Given the description of an element on the screen output the (x, y) to click on. 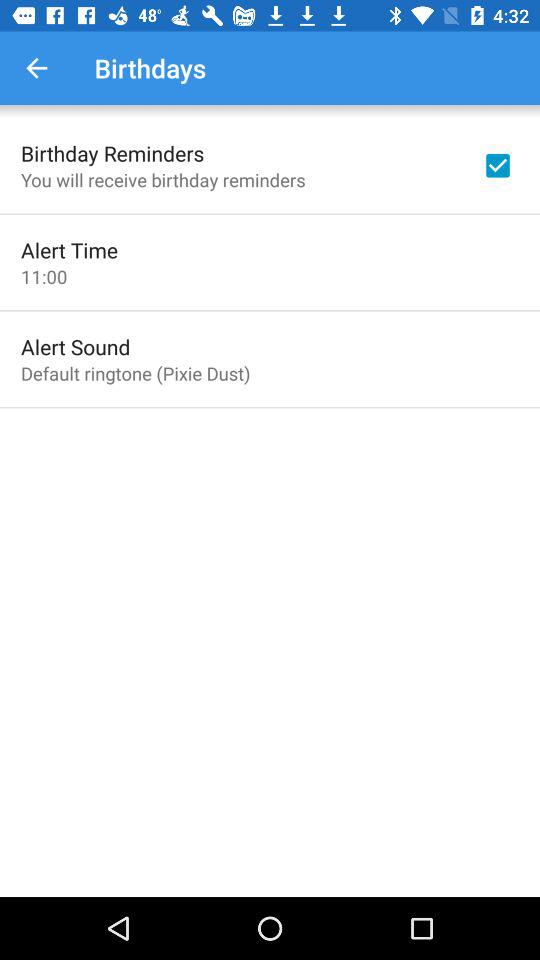
select icon to the right of the you will receive icon (497, 165)
